Given the description of an element on the screen output the (x, y) to click on. 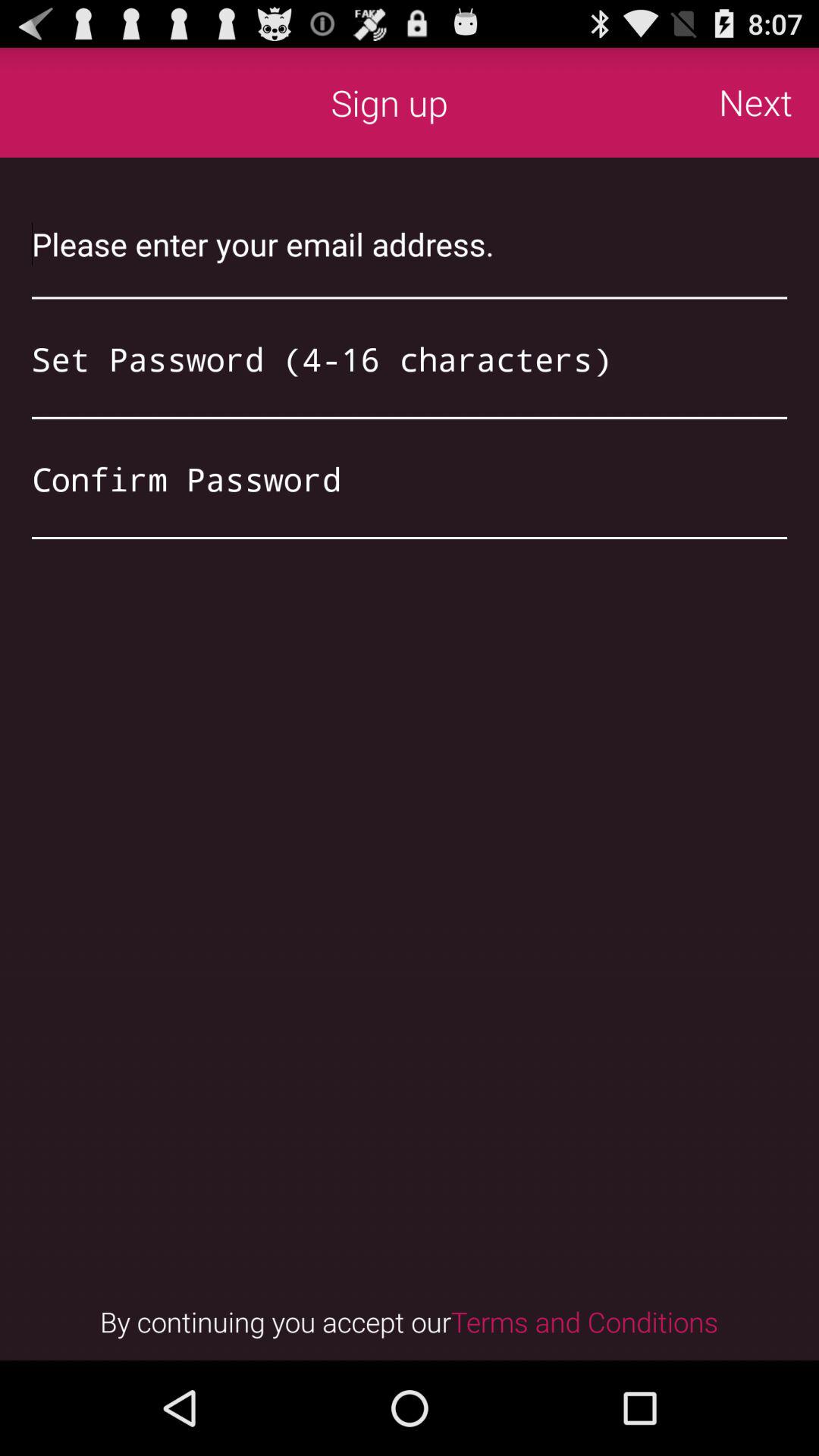
retype password (409, 478)
